Given the description of an element on the screen output the (x, y) to click on. 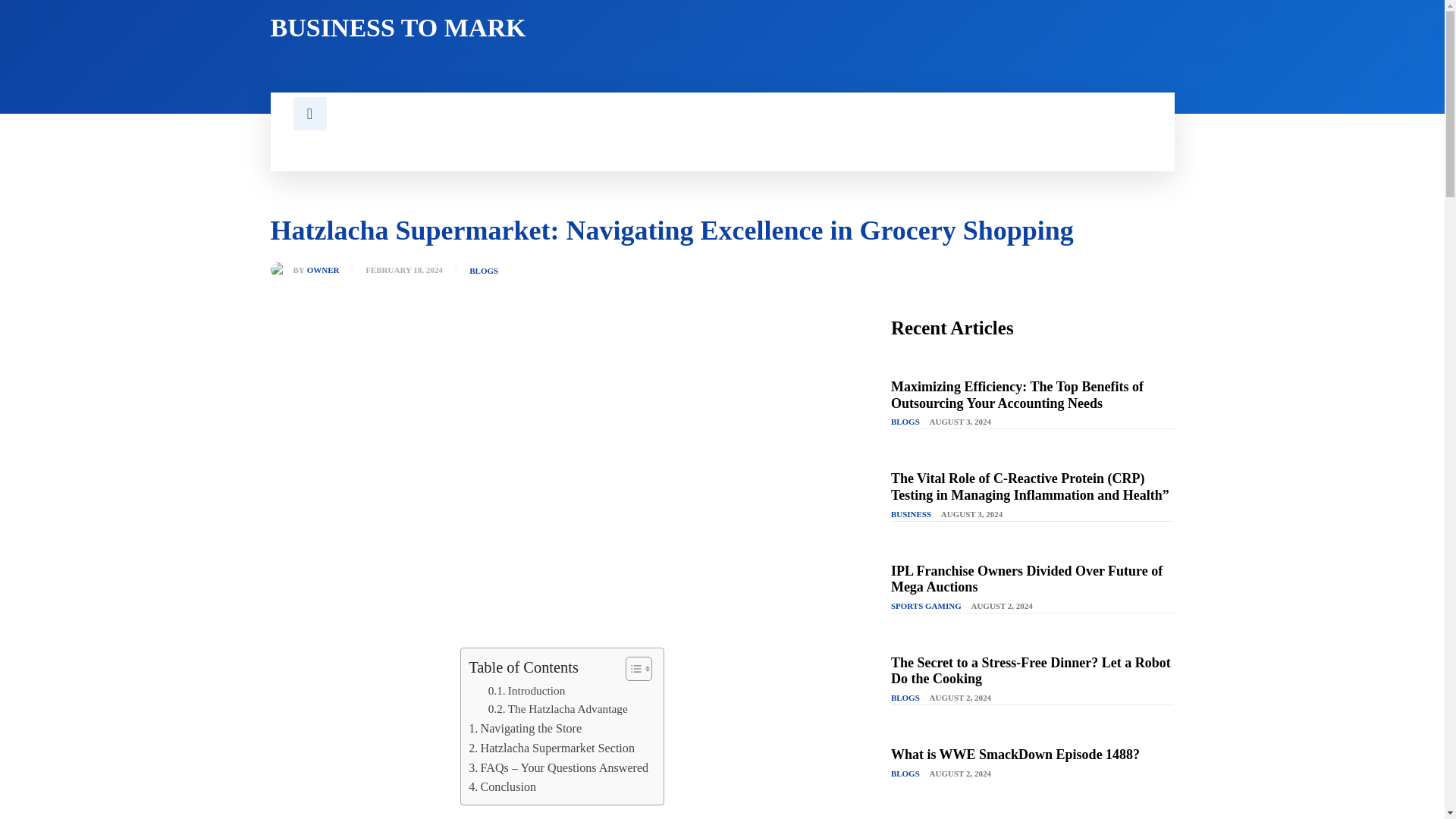
BUSINESS TO MARK (486, 27)
